Given the description of an element on the screen output the (x, y) to click on. 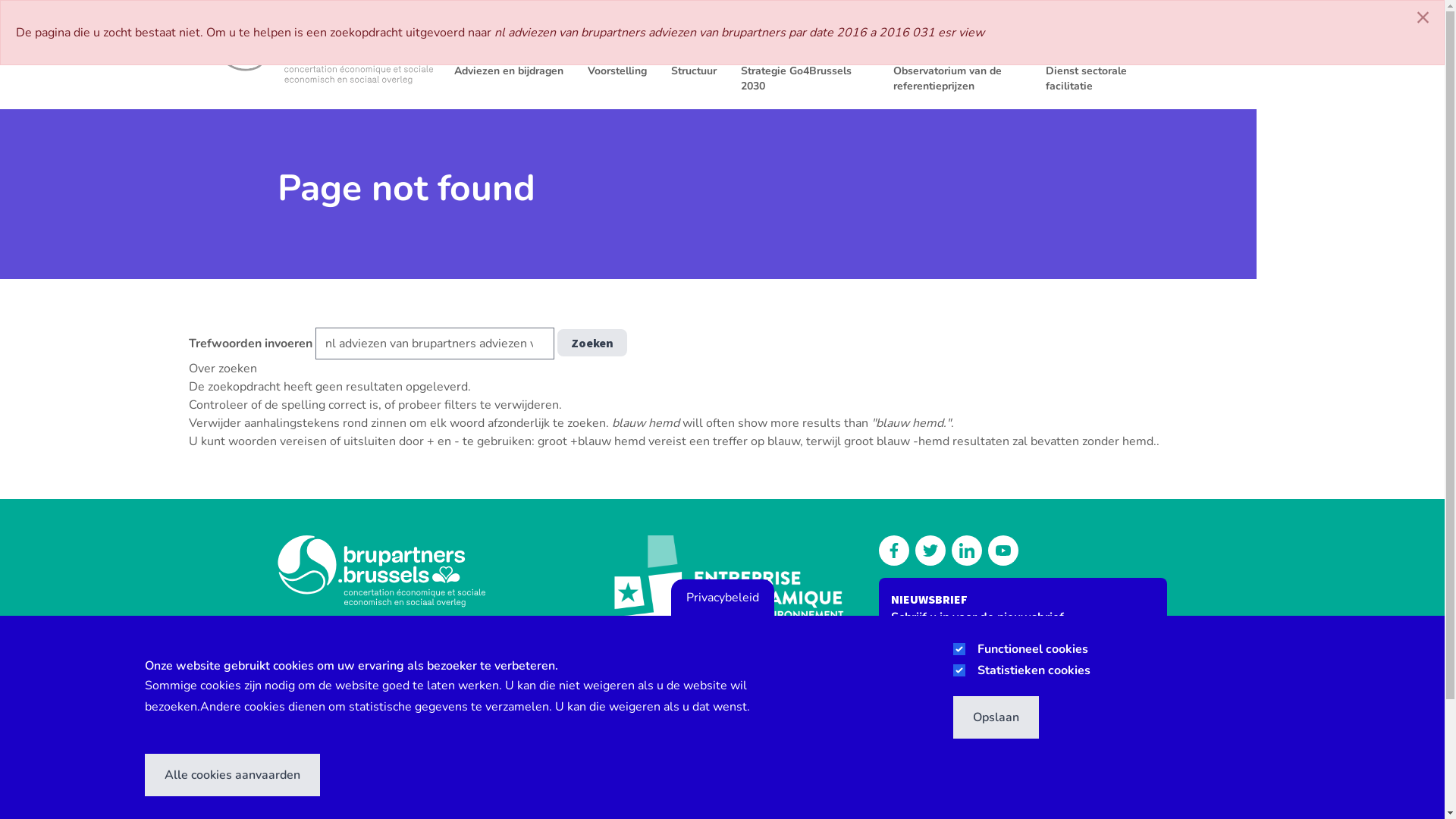
Dienst sectorale facilitatie Element type: text (1109, 77)
Discover our Facebook Element type: text (893, 550)
Privacybeleid Element type: text (721, 597)
Discover our Linkedin Element type: text (966, 550)
Watch us on our YouTube channel Element type: text (1061, 28)
Discover our Facebook Element type: text (991, 28)
Watch us on our YouTube channel Element type: text (1003, 550)
brupartners@brupartners.brussels Element type: text (375, 713)
Opslaan Element type: text (995, 717)
Voorstelling Element type: text (616, 69)
Brupartners Element type: hover (421, 571)
Brupartners Element type: text (323, 46)
Alle cookies aanvaarden Element type: text (231, 774)
Zoeken Element type: text (1123, 28)
Follow us on Twitter Element type: text (1015, 28)
Observatorium van de referentieprijzen Element type: text (957, 77)
Strategie Go4Brussels 2030 Element type: text (804, 77)
Inschrijven Element type: text (937, 717)
Over zoeken Element type: text (222, 368)
Adviezen en bijdragen Element type: text (507, 69)
Discover our Linkedin Element type: text (1038, 28)
Zoeken Element type: text (591, 342)
LEDENZONE Element type: text (1201, 28)
Follow us on Twitter Element type: text (930, 550)
PUBLICATIES Element type: text (943, 28)
NIEUWS Element type: text (887, 28)
